Given the description of an element on the screen output the (x, y) to click on. 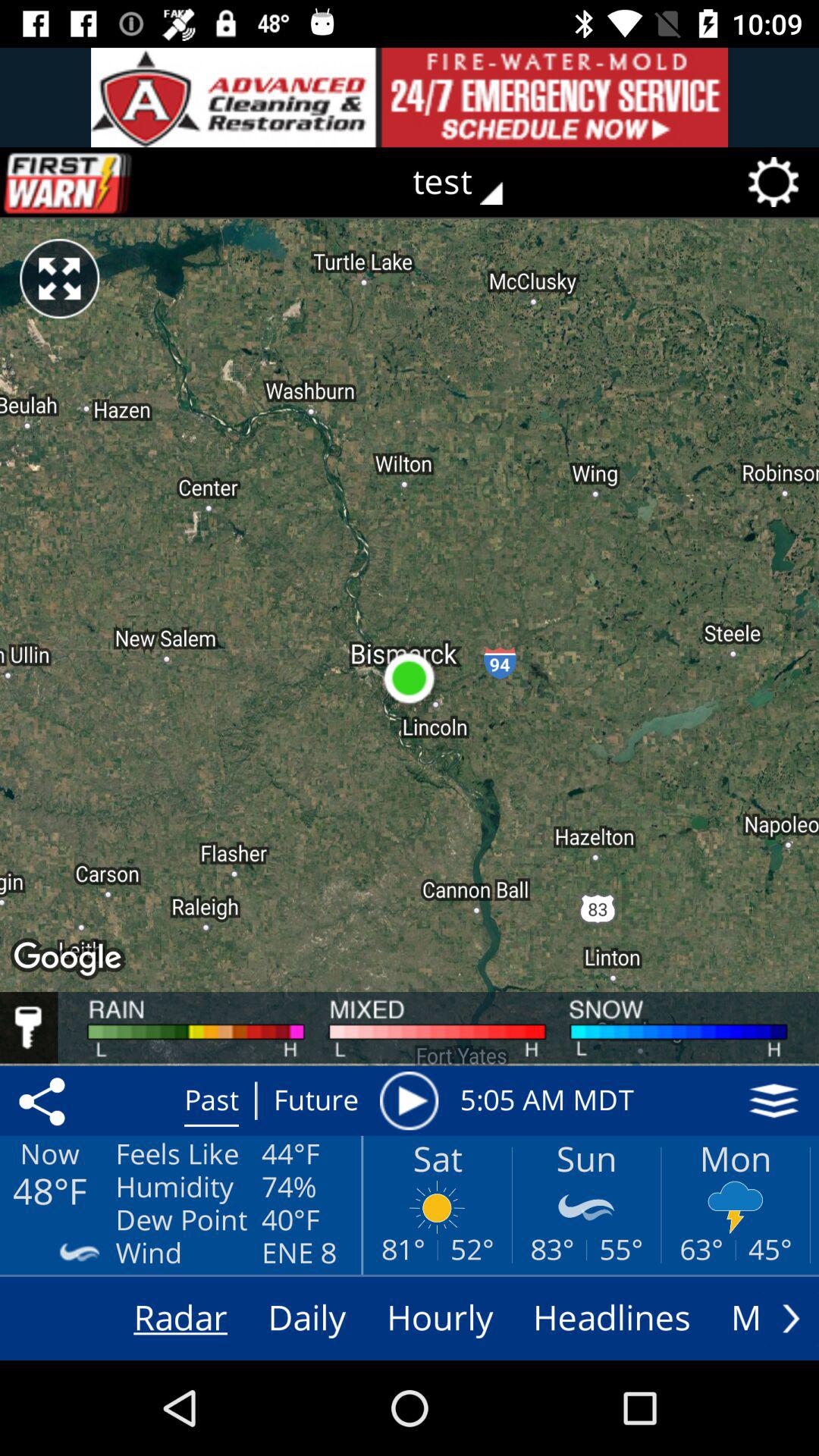
select map display (774, 1100)
